Given the description of an element on the screen output the (x, y) to click on. 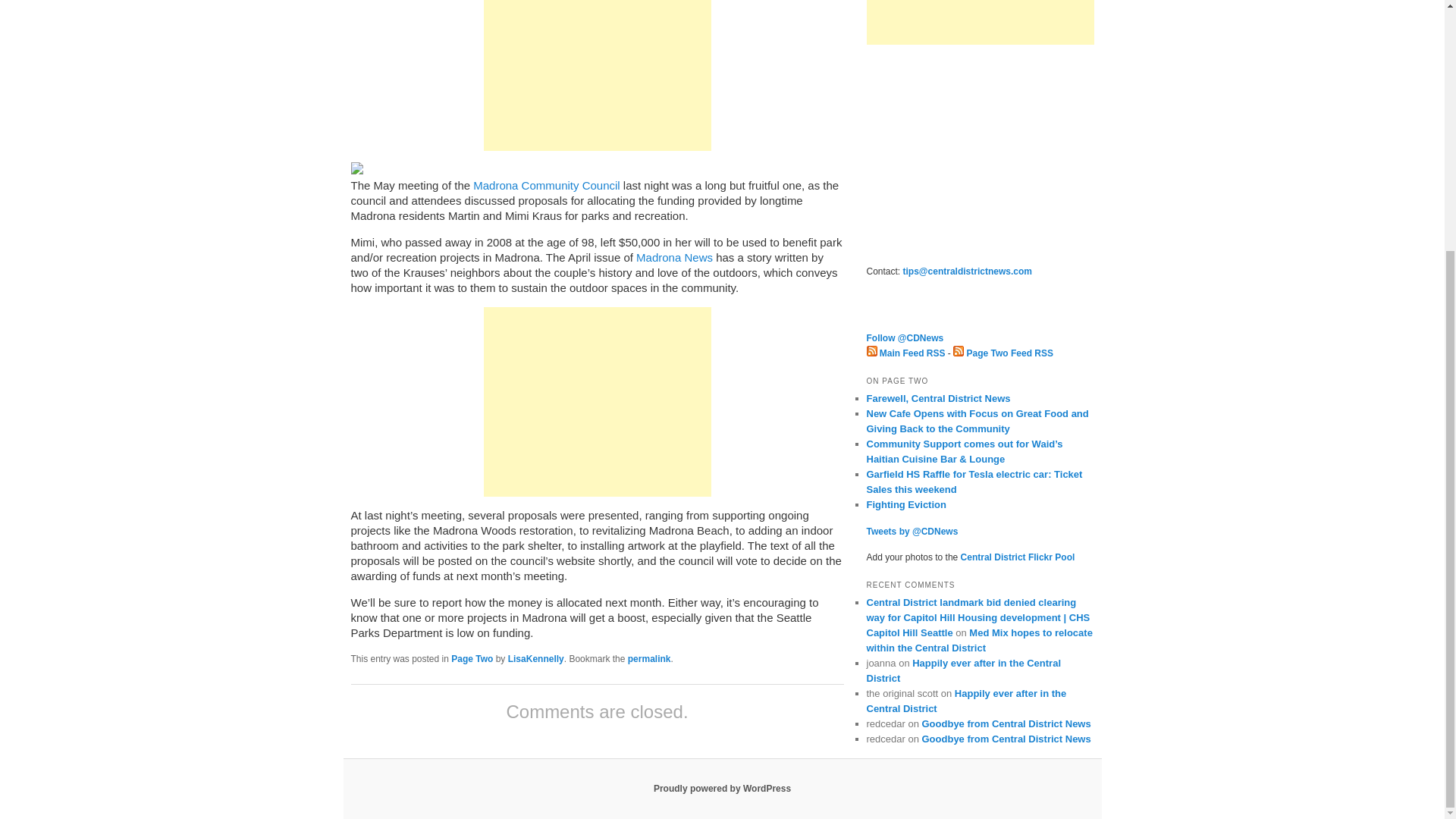
Main Feed RSS (905, 353)
Madrona Community Council (546, 185)
Madrona News (674, 256)
Page Two Feed RSS (1002, 353)
LisaKennelly (536, 658)
Fighting Eviction (905, 504)
Happily ever after in the Central District (963, 670)
Page Two (472, 658)
Farewell, Central District News (938, 398)
Advertisement (979, 153)
permalink (649, 658)
Advertisement (597, 75)
Happily ever after in the Central District (965, 700)
Goodbye from Central District News (1005, 738)
